Given the description of an element on the screen output the (x, y) to click on. 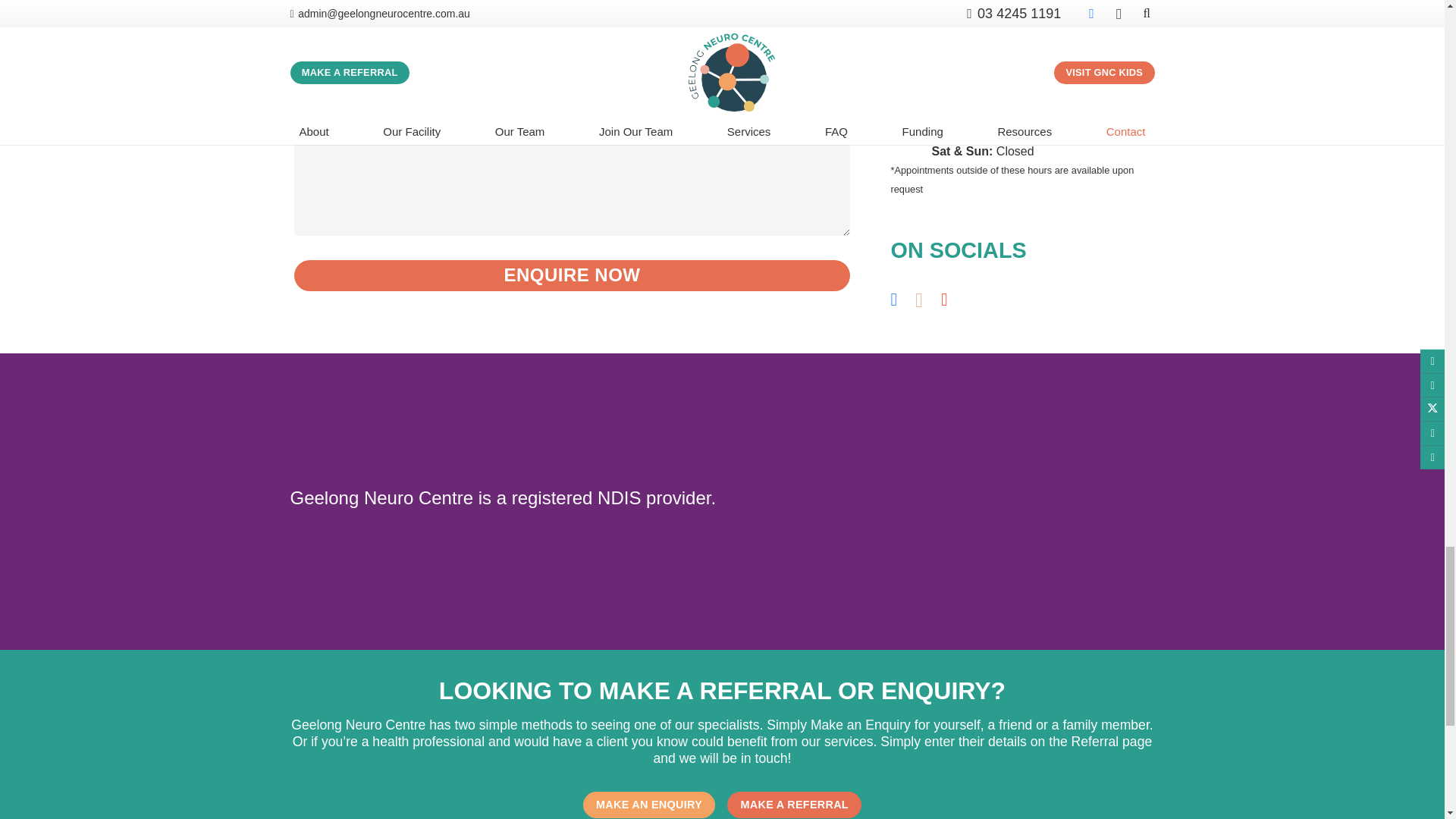
Refer a Client (793, 804)
ENQUIRE NOW (572, 275)
Make an Enquiry (649, 804)
